Given the description of an element on the screen output the (x, y) to click on. 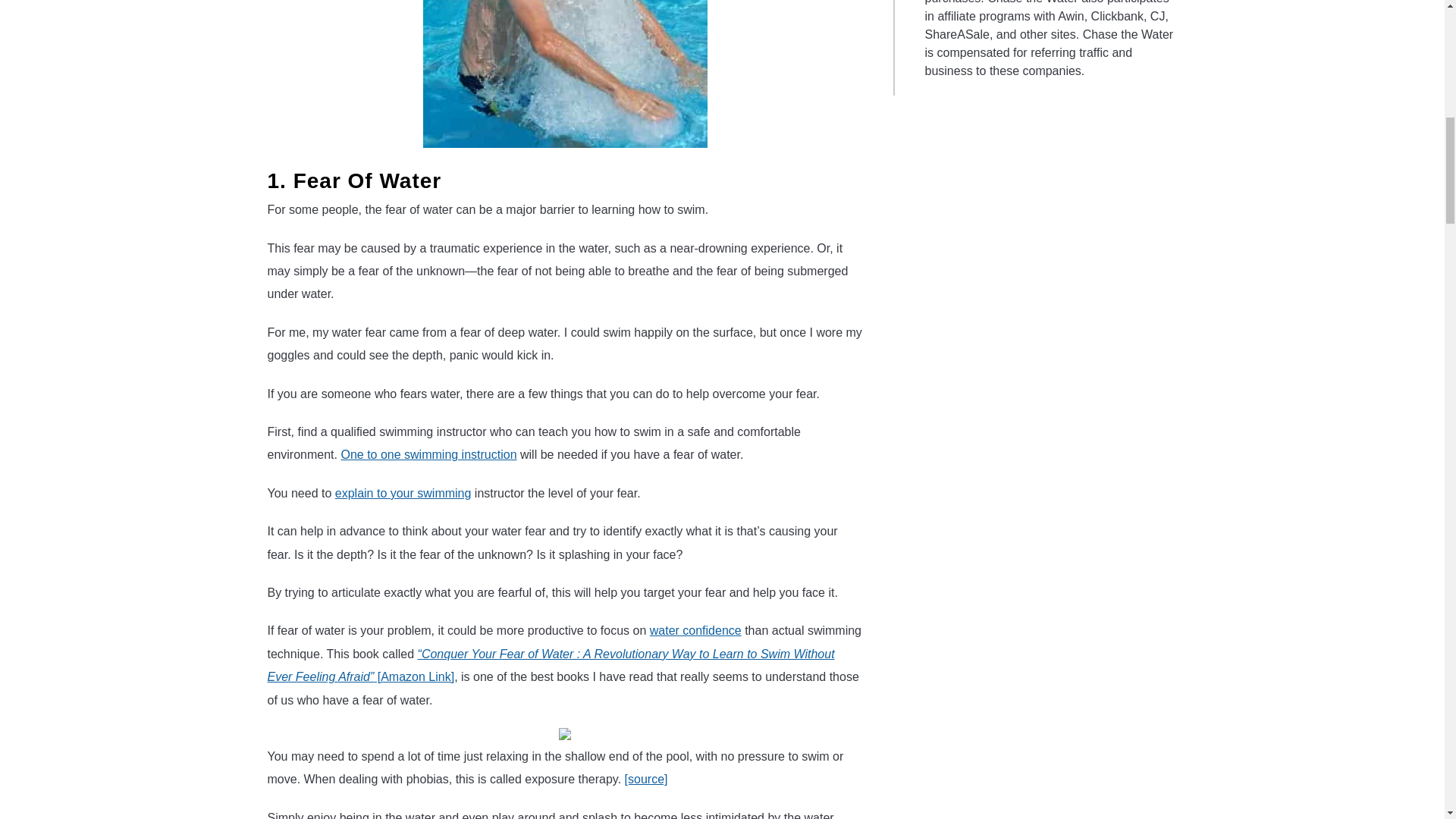
explain to your swimming (402, 492)
water confidence (695, 630)
One to one swimming instruction (428, 454)
